Given the description of an element on the screen output the (x, y) to click on. 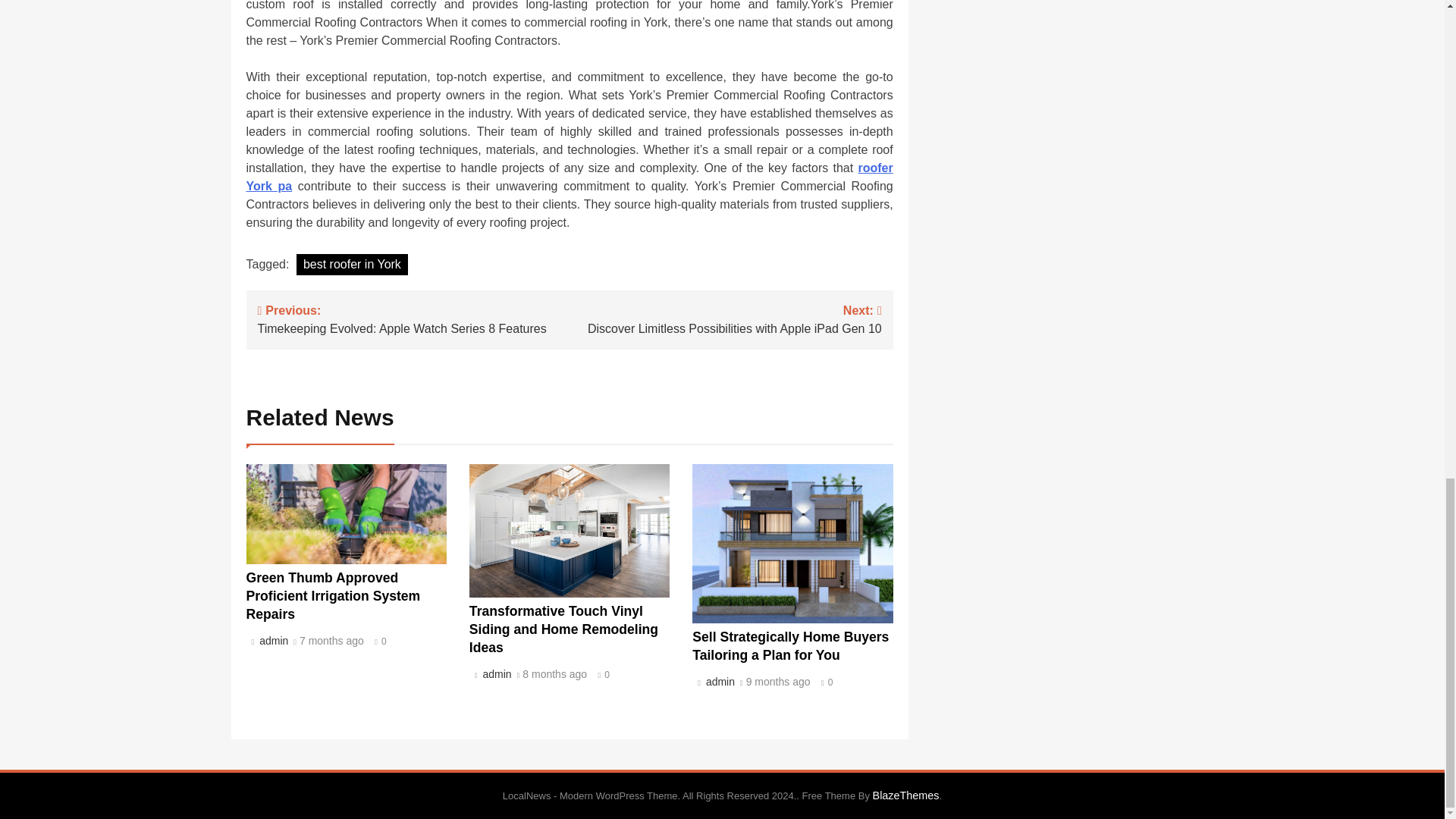
roofer York pa (569, 176)
admin (494, 674)
admin (271, 640)
Green Thumb Approved Proficient Irrigation System Repairs (333, 595)
best roofer in York (413, 318)
9 months ago (352, 264)
Sell Strategically Home Buyers Tailoring a Plan for You (777, 682)
Transformative Touch Vinyl Siding and Home Remodeling Ideas (790, 645)
8 months ago (563, 629)
